Given the description of an element on the screen output the (x, y) to click on. 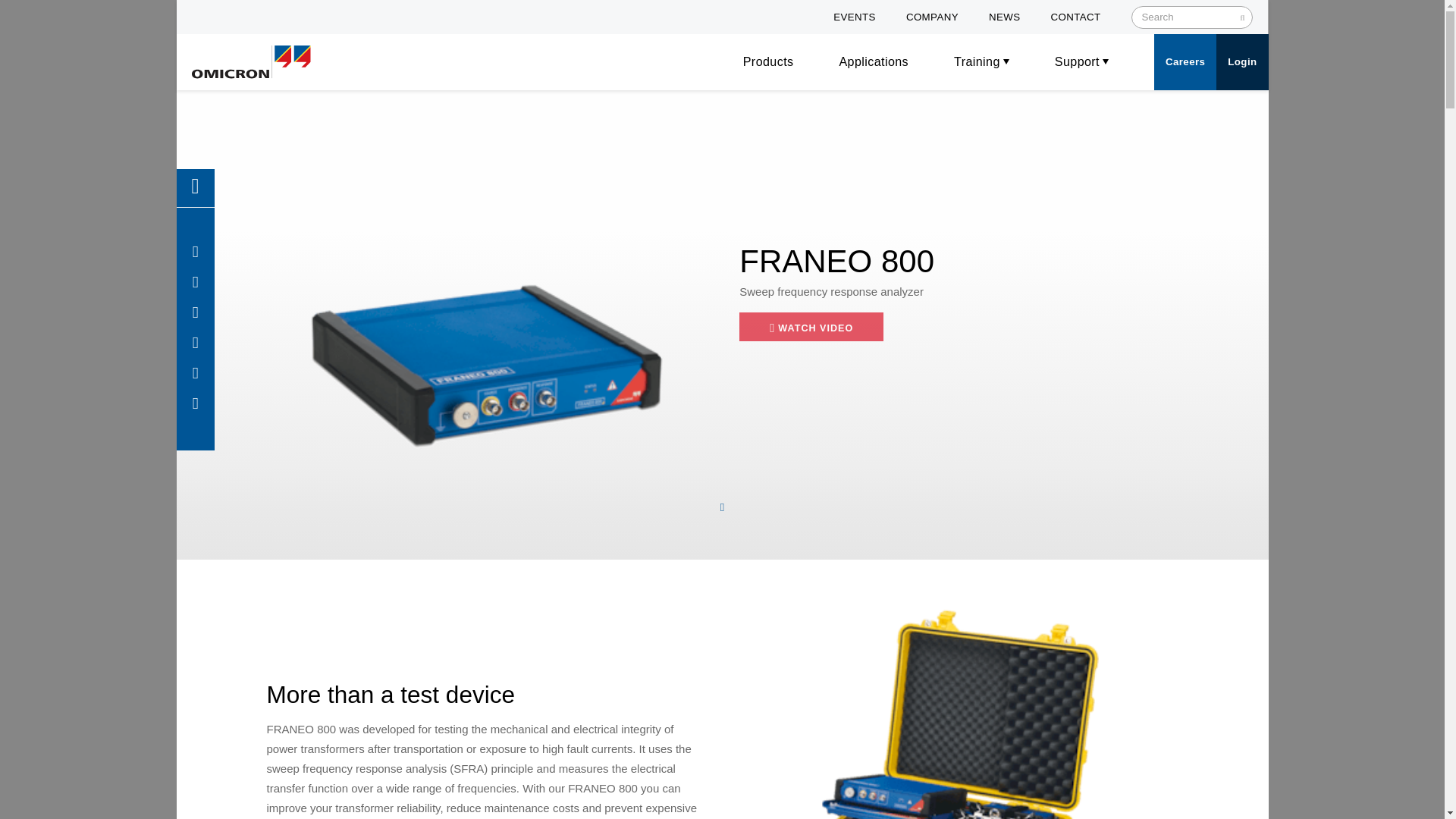
EVENTS (854, 16)
Careers (1185, 61)
Description (195, 254)
Contact (195, 406)
Products (767, 61)
COMPANY (931, 16)
Training (195, 376)
Applications (873, 61)
Videos (195, 285)
Documents (195, 346)
